Given the description of an element on the screen output the (x, y) to click on. 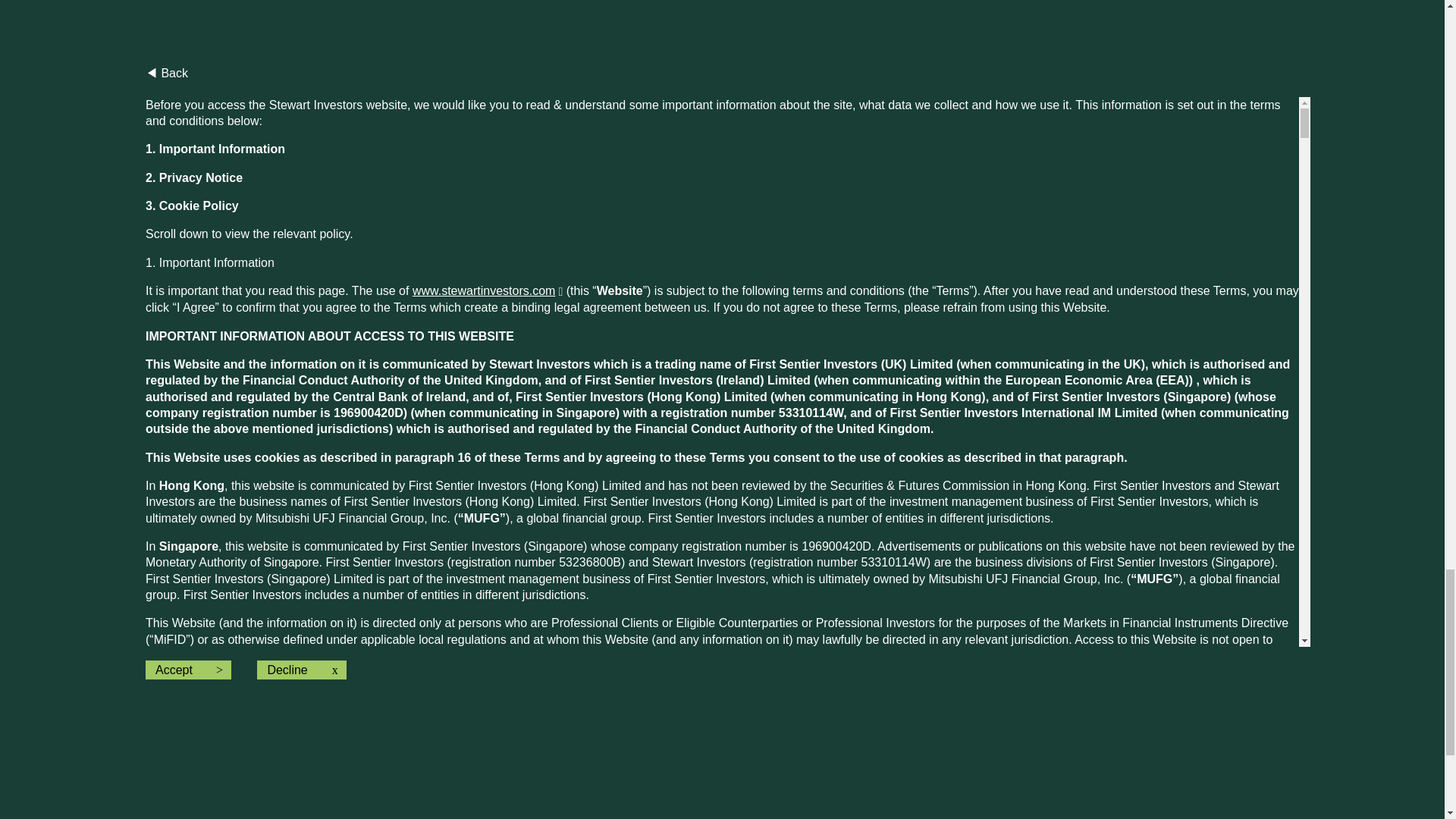
www.allaboutcookies.org (557, 683)
Privacy Notice (272, 306)
